Given the description of an element on the screen output the (x, y) to click on. 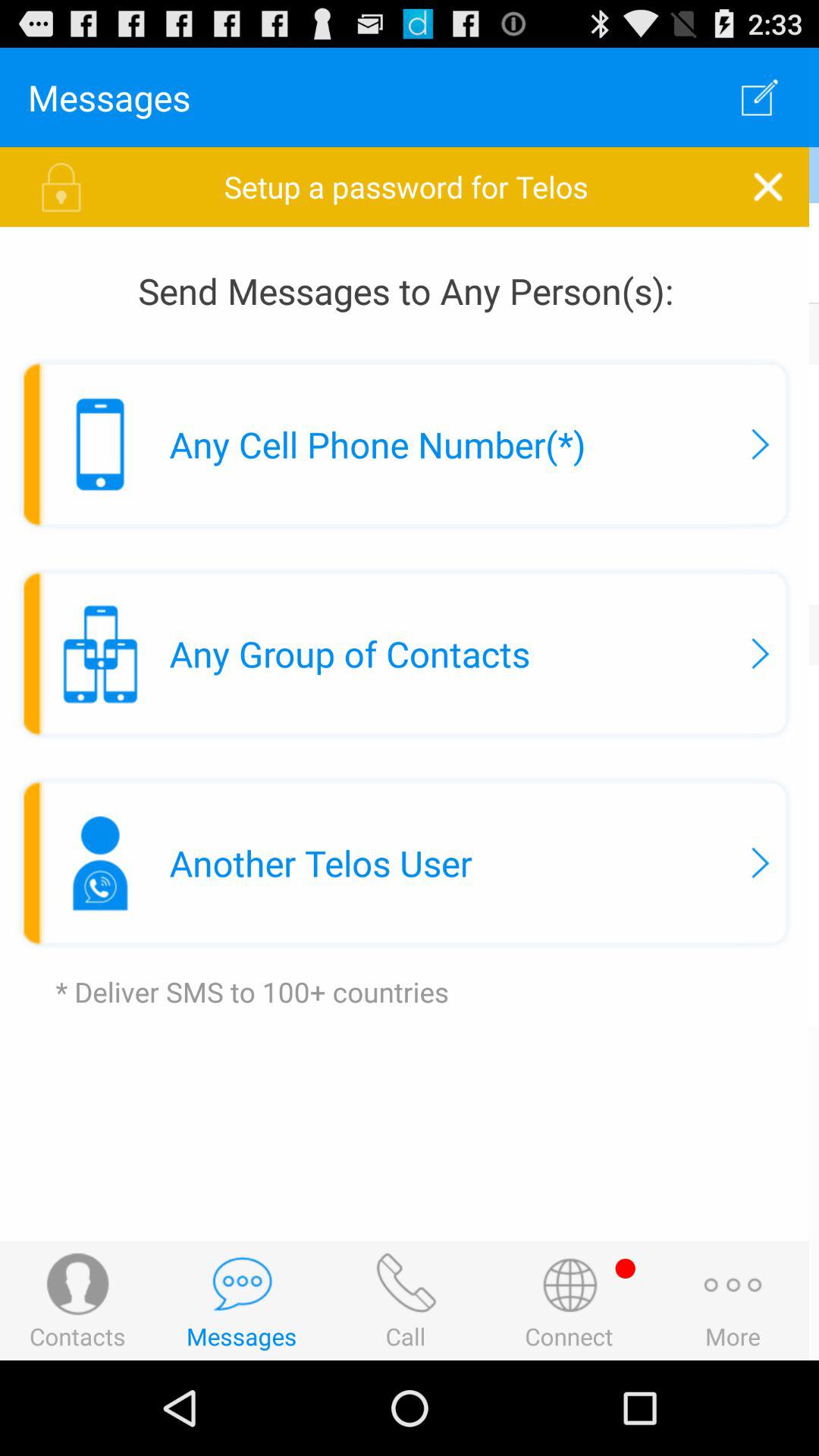
open the item to the right of messages item (763, 97)
